Given the description of an element on the screen output the (x, y) to click on. 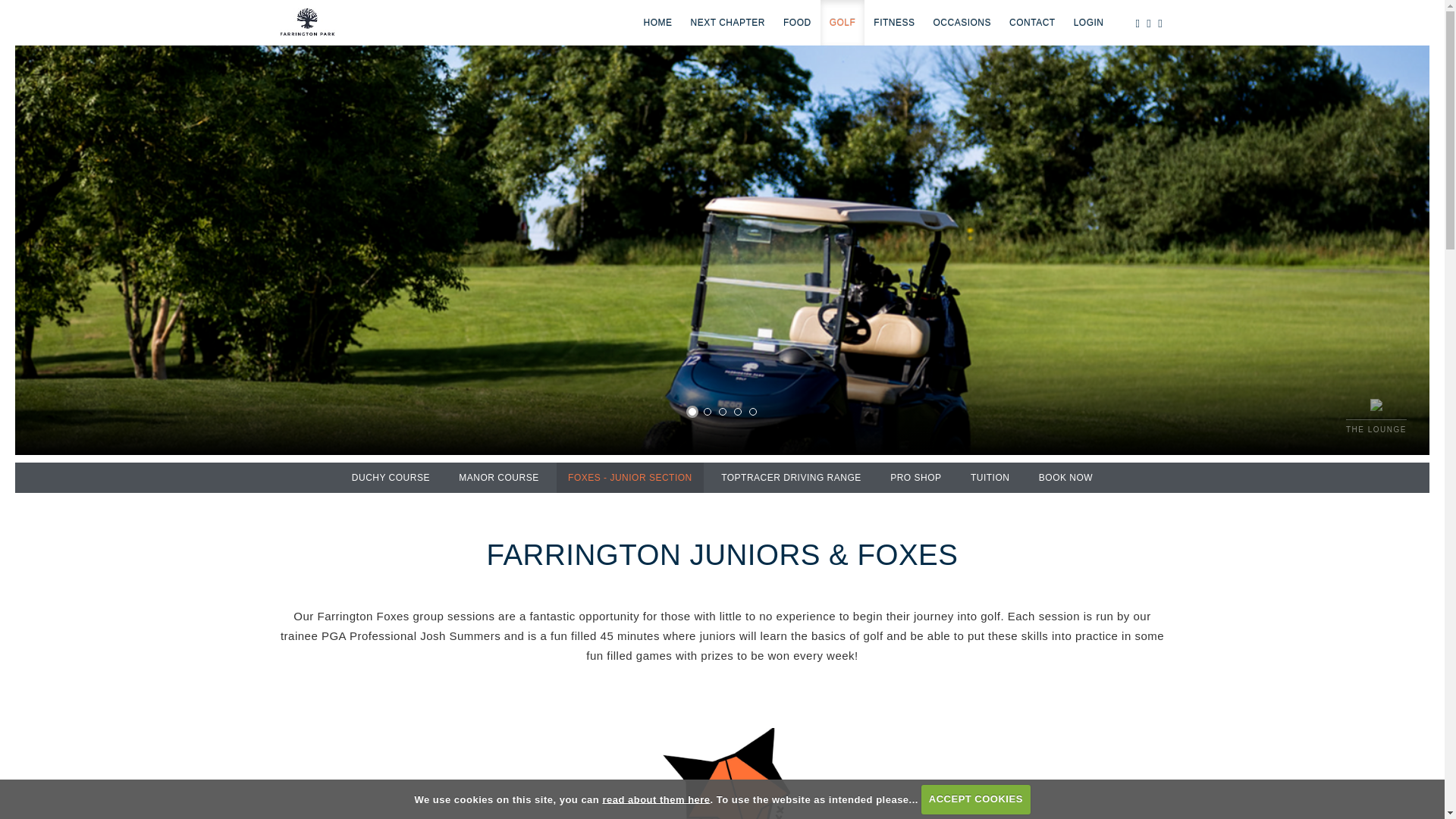
3 (722, 411)
read about our cookies (656, 798)
4 (737, 411)
LOGIN (1088, 22)
DUCHY COURSE (390, 477)
FOXES - JUNIOR SECTION (629, 477)
5 (753, 411)
GOLF (842, 22)
1 (691, 411)
2 (707, 411)
